Given the description of an element on the screen output the (x, y) to click on. 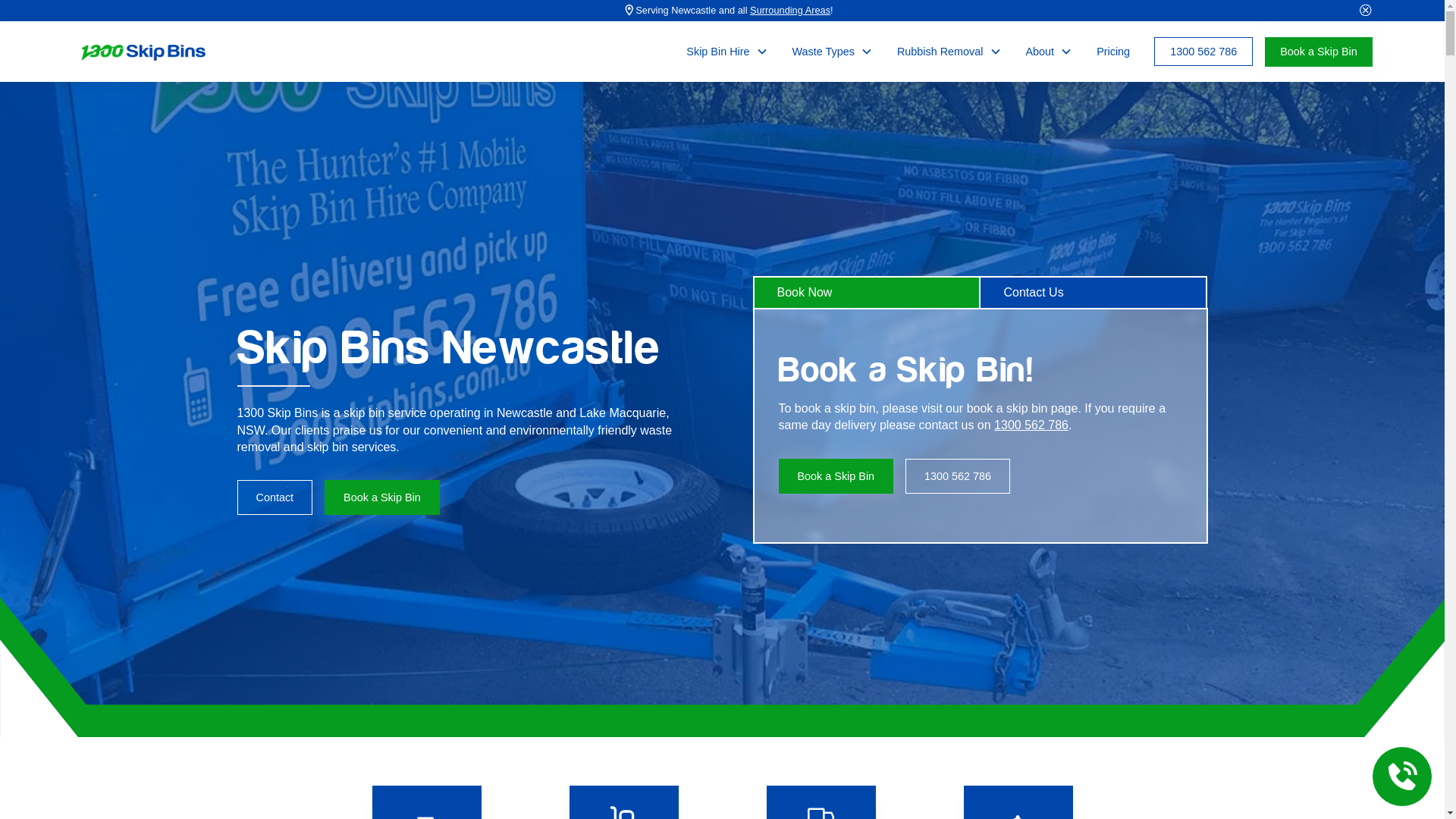
About Element type: text (1040, 51)
Contact Element type: text (274, 497)
Surrounding Areas Element type: text (789, 9)
Contact Us Element type: text (1093, 291)
1300 562 786 Element type: text (957, 475)
1300 562 786 Element type: text (1031, 424)
Rubbish Removal Element type: text (940, 51)
Waste Types Element type: text (823, 51)
Skip Bin Hire Element type: text (717, 51)
Book a Skip Bin Element type: text (381, 497)
Book Now Element type: text (865, 291)
Book a Skip Bin Element type: text (835, 475)
Pricing Element type: text (1113, 51)
1300 562 786 Element type: text (1203, 51)
Book a Skip Bin Element type: text (1318, 51)
